Given the description of an element on the screen output the (x, y) to click on. 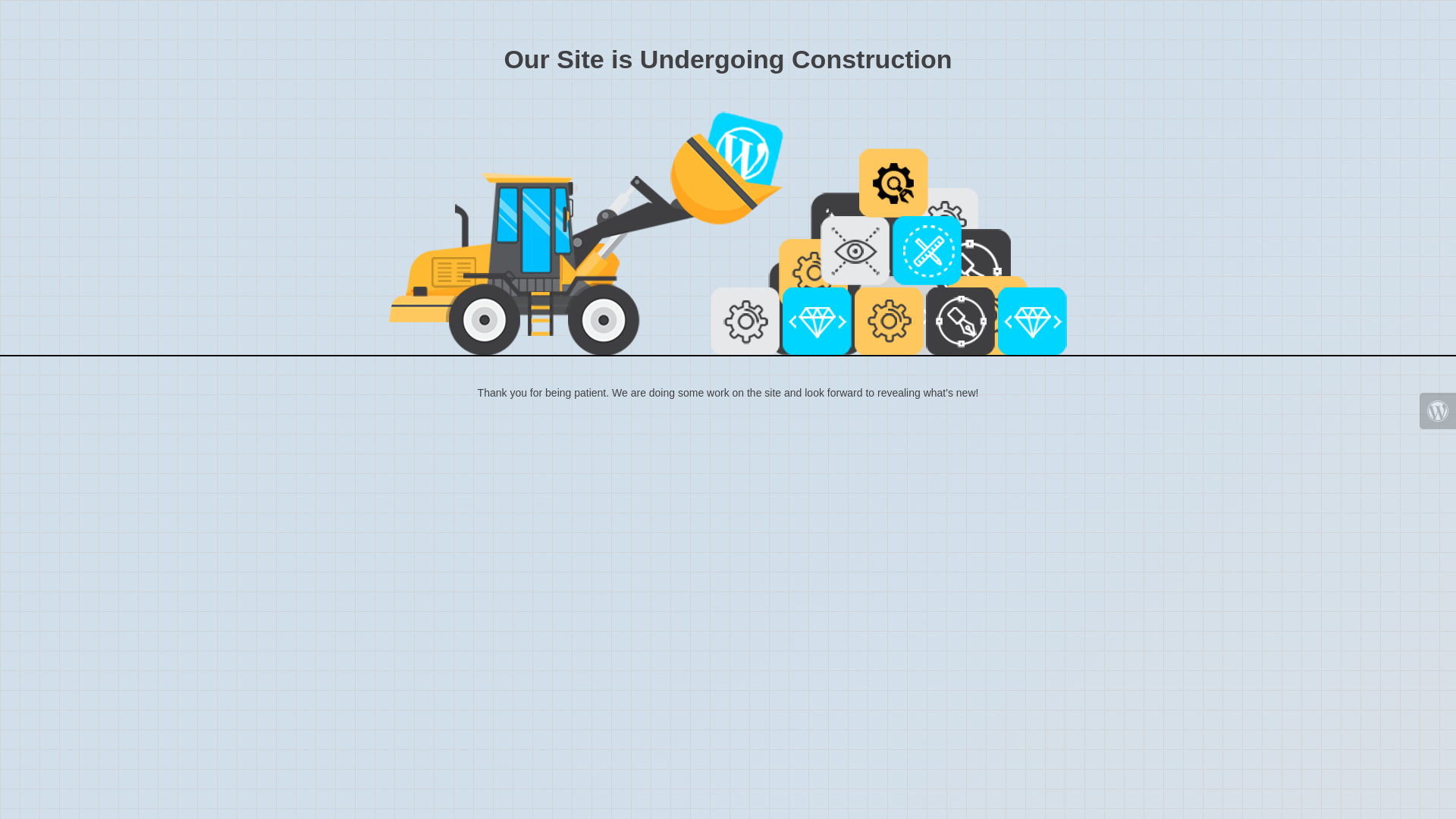
Loader at Work Element type: hover (727, 232)
